Given the description of an element on the screen output the (x, y) to click on. 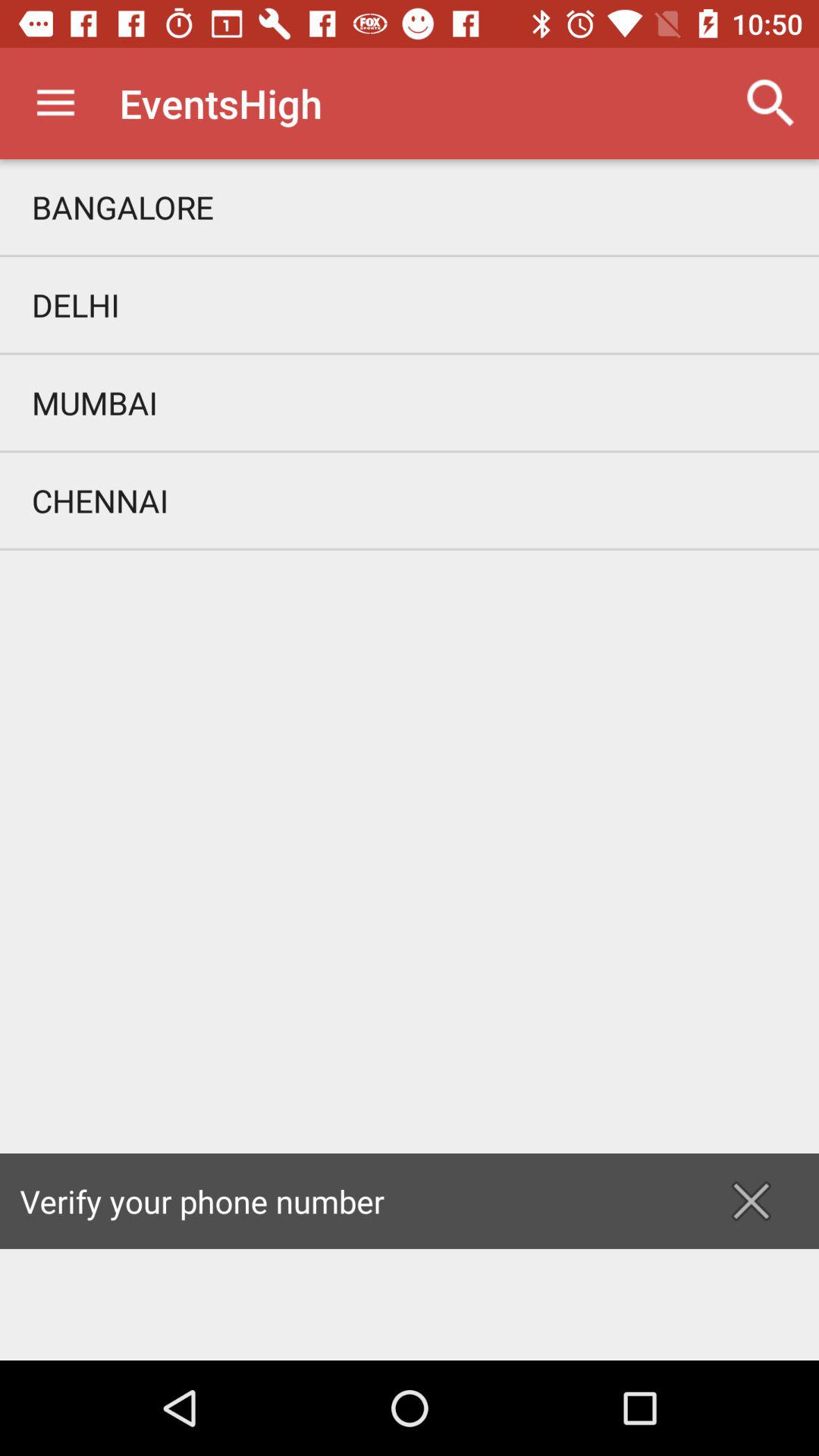
turn off chennai icon (409, 500)
